Given the description of an element on the screen output the (x, y) to click on. 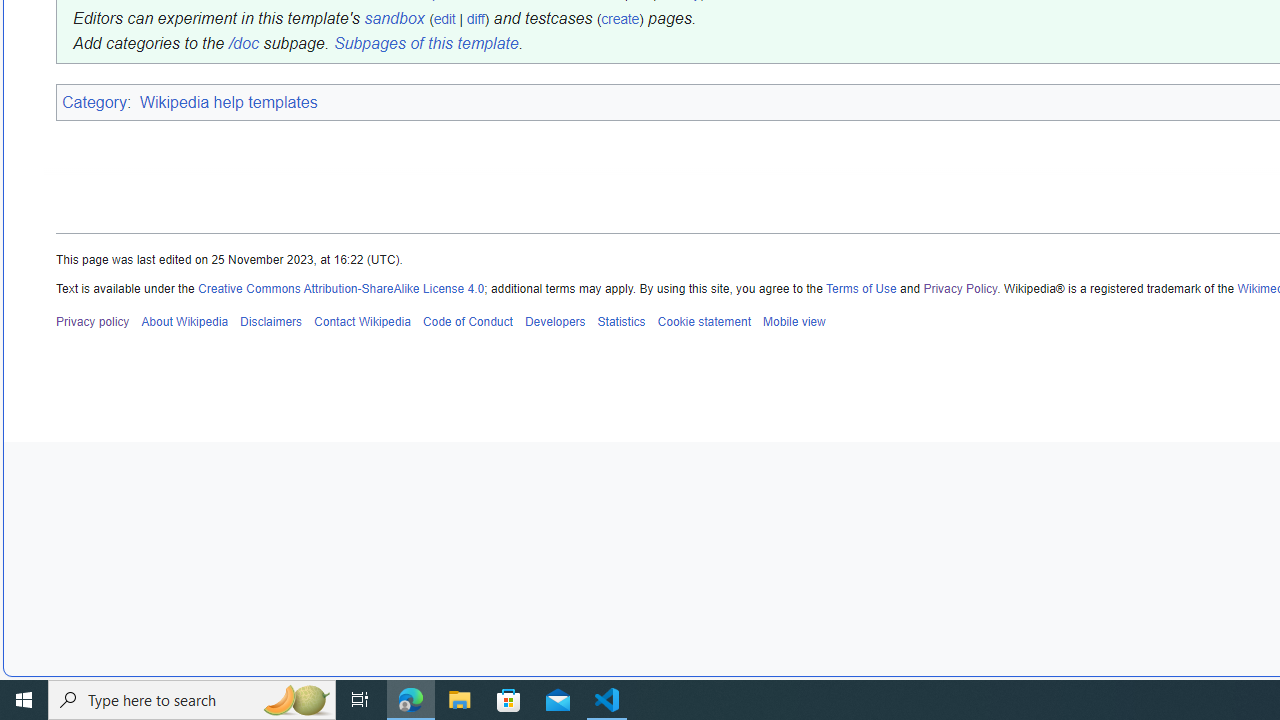
create (620, 18)
Mobile view (793, 321)
Contact Wikipedia (361, 321)
Cookie statement (703, 321)
Contact Wikipedia (361, 321)
Disclaimers (271, 321)
Privacy policy (93, 321)
Category (93, 101)
About Wikipedia (184, 321)
diff (475, 18)
Disclaimers (271, 321)
Wikipedia help templates (230, 102)
Terms of Use (861, 287)
Developers (554, 321)
sandbox (393, 17)
